Given the description of an element on the screen output the (x, y) to click on. 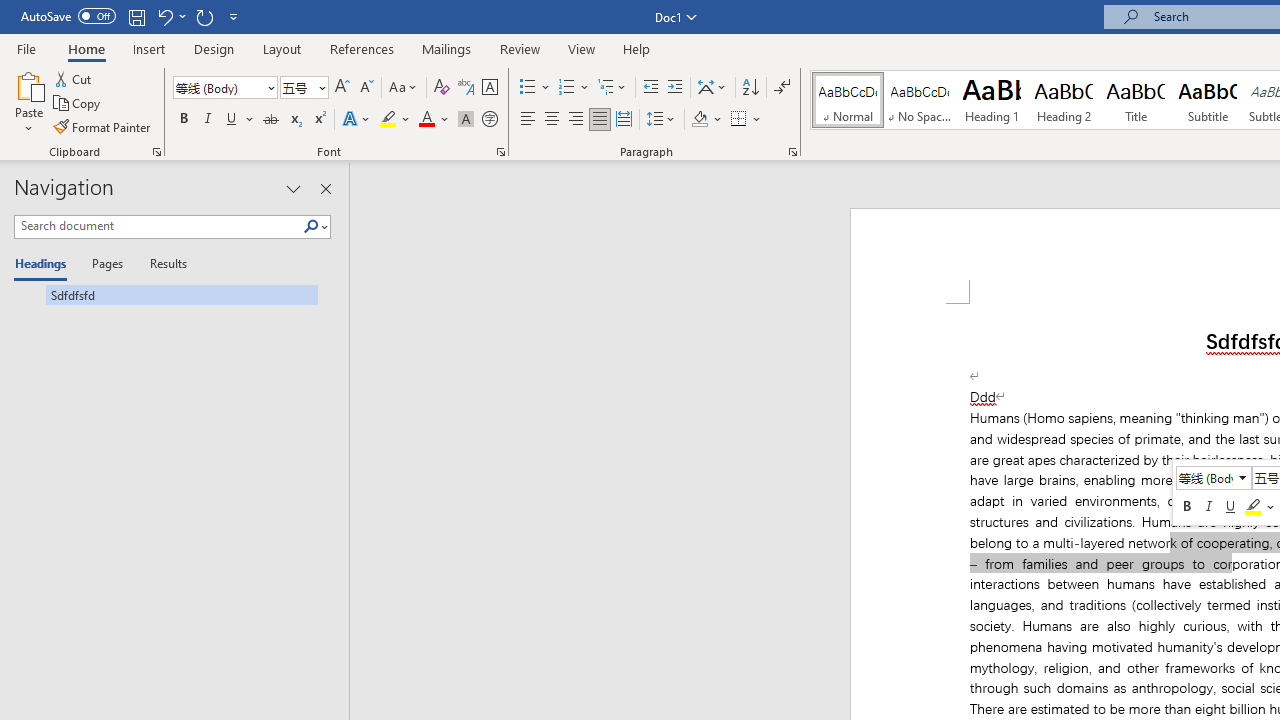
Font Color Red (426, 119)
Class: NetUIComboboxAnchor (1213, 477)
Class: NetUITextbox (1205, 477)
